Given the description of an element on the screen output the (x, y) to click on. 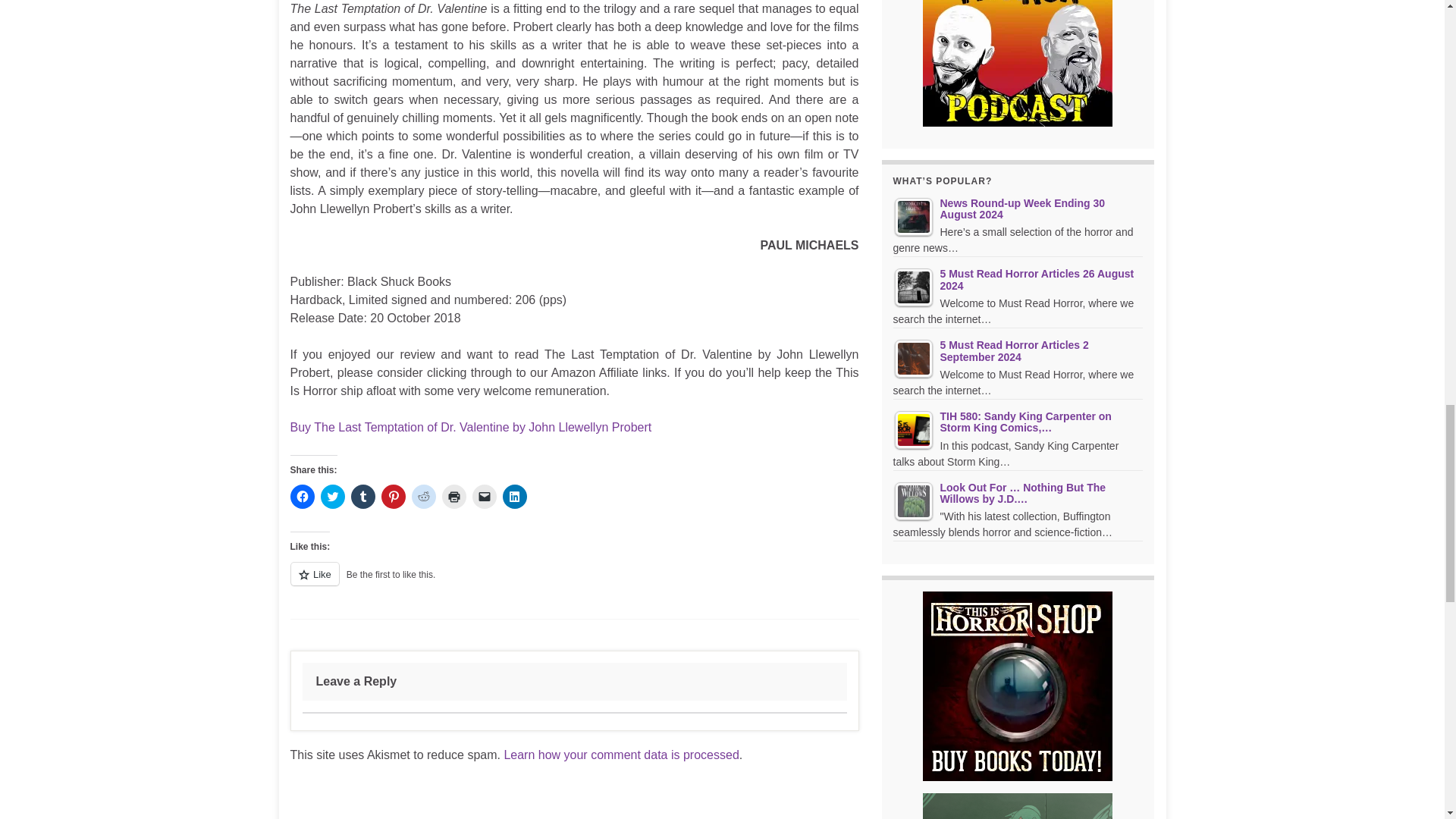
Click to print (453, 496)
Click to email a link to a friend (483, 496)
Click to share on Pinterest (392, 496)
Learn how your comment data is processed (620, 754)
Click to share on Tumblr (362, 496)
Click to share on Facebook (301, 496)
Click to share on Twitter (331, 496)
Click to share on Reddit (422, 496)
